Given the description of an element on the screen output the (x, y) to click on. 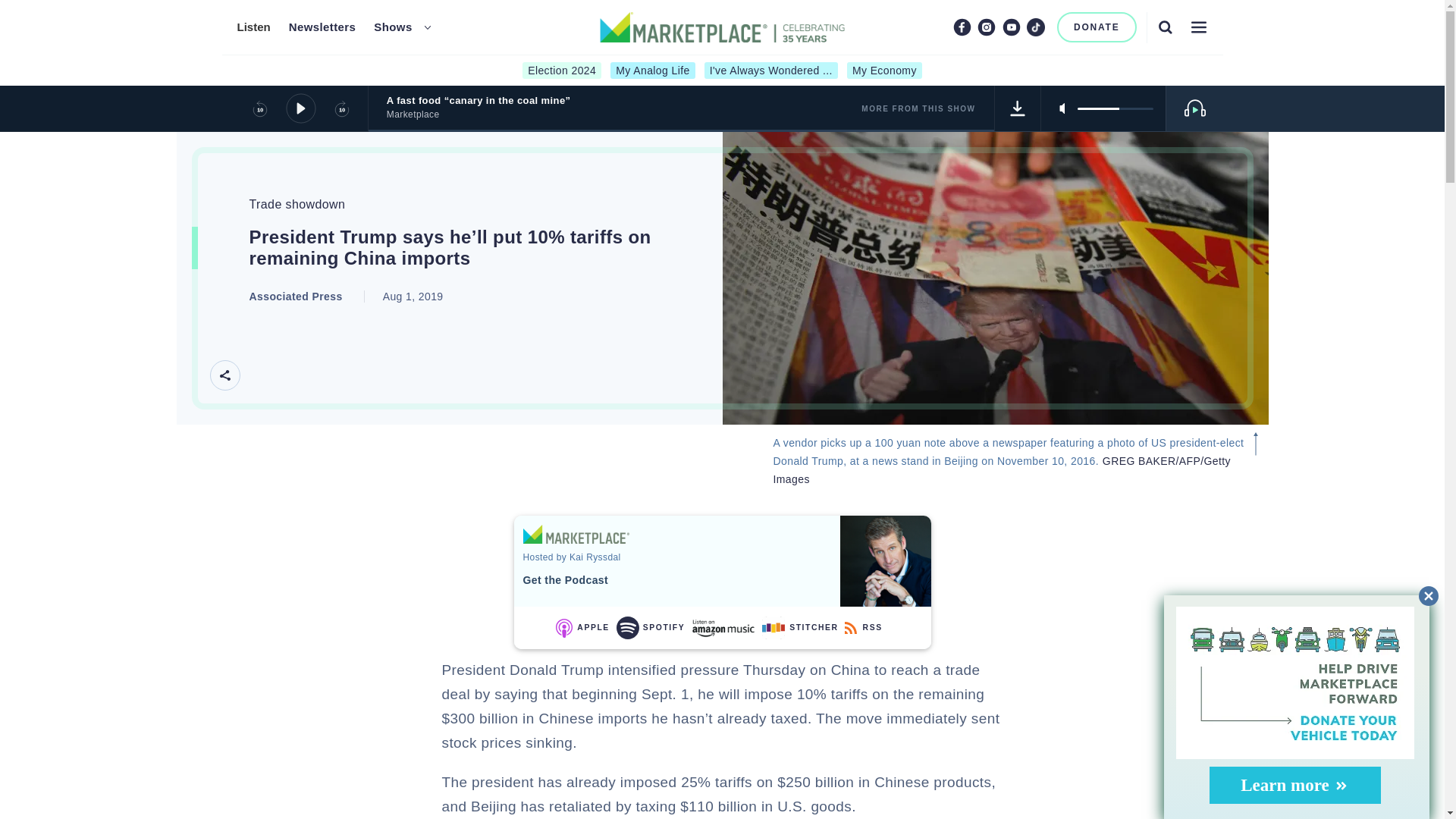
Newsletters (322, 27)
5 (1115, 108)
Download Track (1017, 108)
volume (1115, 108)
Shows (393, 26)
Instagram (985, 27)
Menu (1198, 27)
TikTok (1035, 27)
Listen (252, 26)
Facebook (962, 27)
DONATE (1097, 27)
Youtube (1011, 27)
Marketplace (575, 533)
Search (1164, 27)
